Given the description of an element on the screen output the (x, y) to click on. 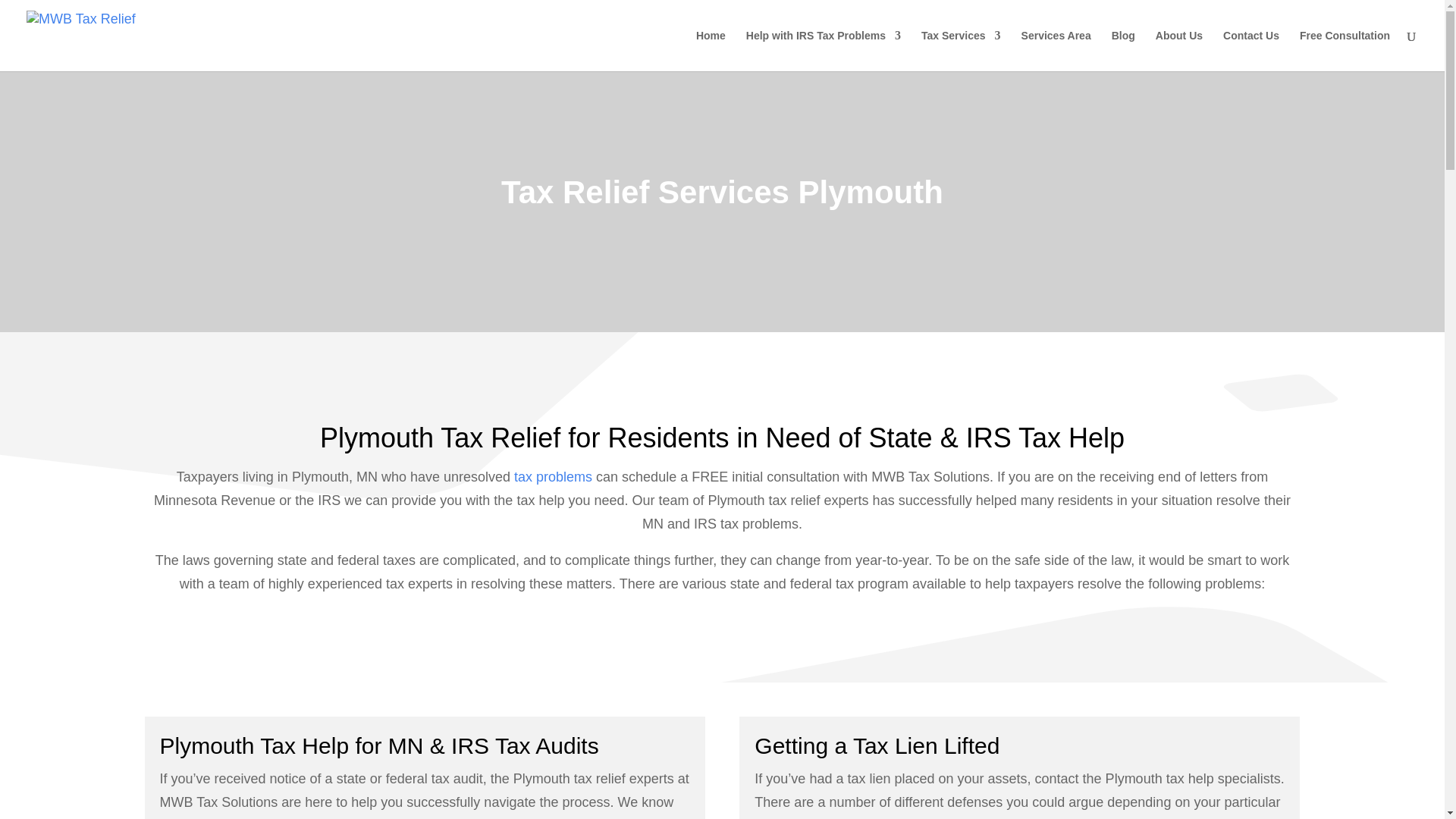
tax problems (552, 476)
Services Area (1056, 50)
Tax Services (961, 50)
Help with IRS Tax Problems (823, 50)
Free Consultation (1345, 50)
About Us (1179, 50)
Contact Us (1251, 50)
